Given the description of an element on the screen output the (x, y) to click on. 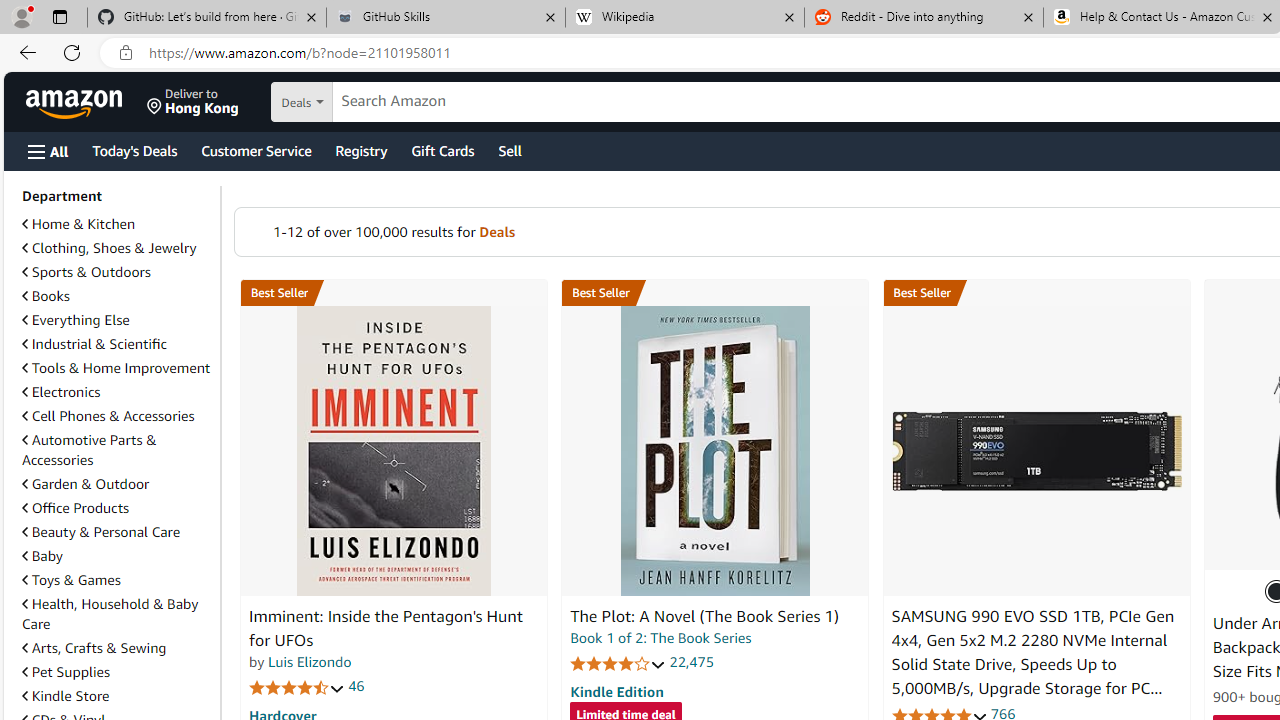
Wikipedia (684, 17)
Deliver to Hong Kong (193, 101)
Everything Else (117, 319)
Registry (360, 150)
Arts, Crafts & Sewing (117, 647)
Sports & Outdoors (117, 272)
Health, Household & Baby Care (117, 614)
Home & Kitchen (117, 223)
Electronics (61, 392)
Imminent: Inside the Pentagon's Hunt for UFOs (386, 628)
The Plot: A Novel (The Book Series 1) (703, 616)
Automotive Parts & Accessories (89, 449)
